Given the description of an element on the screen output the (x, y) to click on. 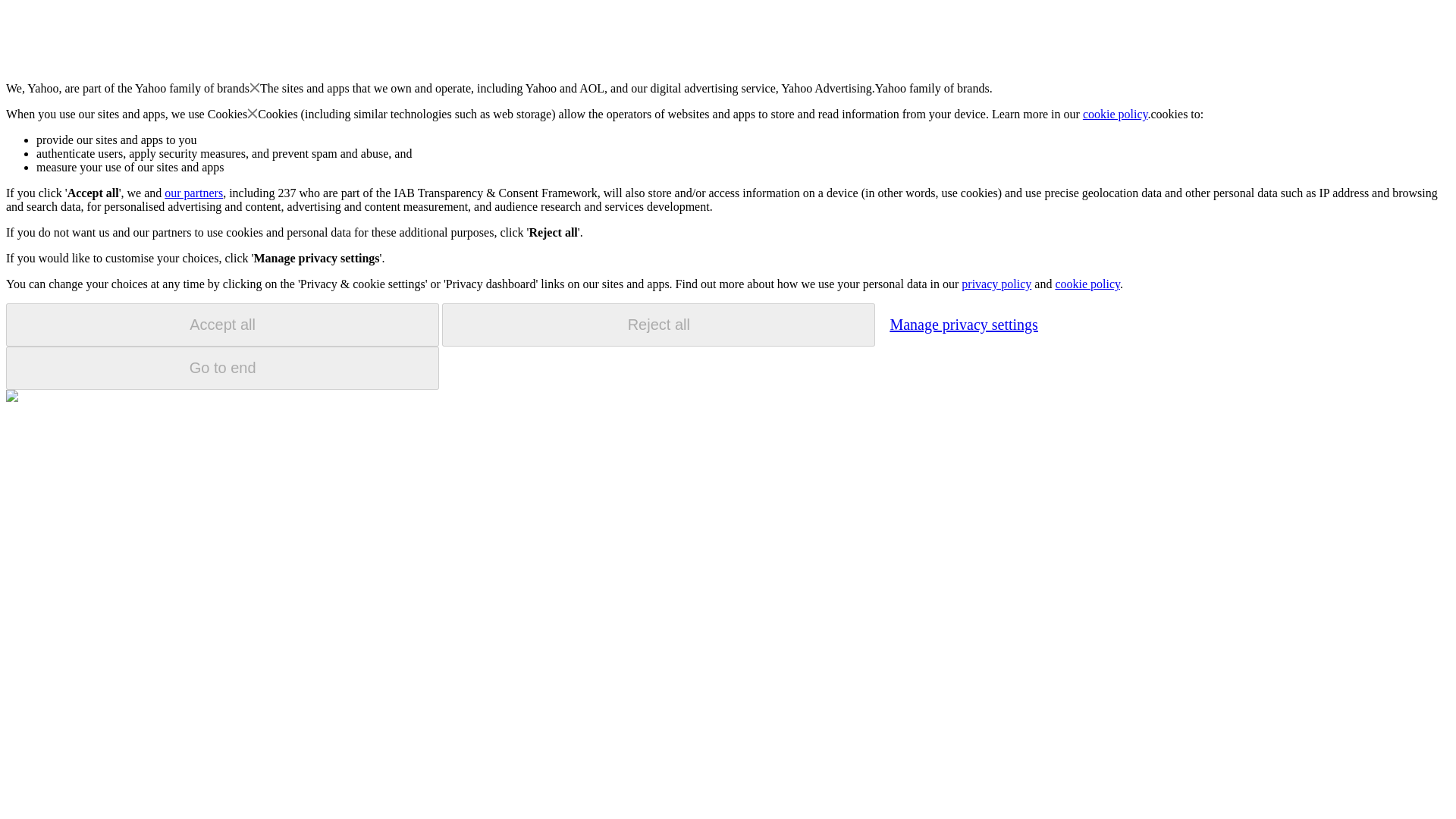
our partners (193, 192)
Accept all (222, 324)
cookie policy (1086, 283)
Manage privacy settings (963, 323)
Go to end (222, 367)
Reject all (658, 324)
privacy policy (995, 283)
cookie policy (1115, 113)
